Given the description of an element on the screen output the (x, y) to click on. 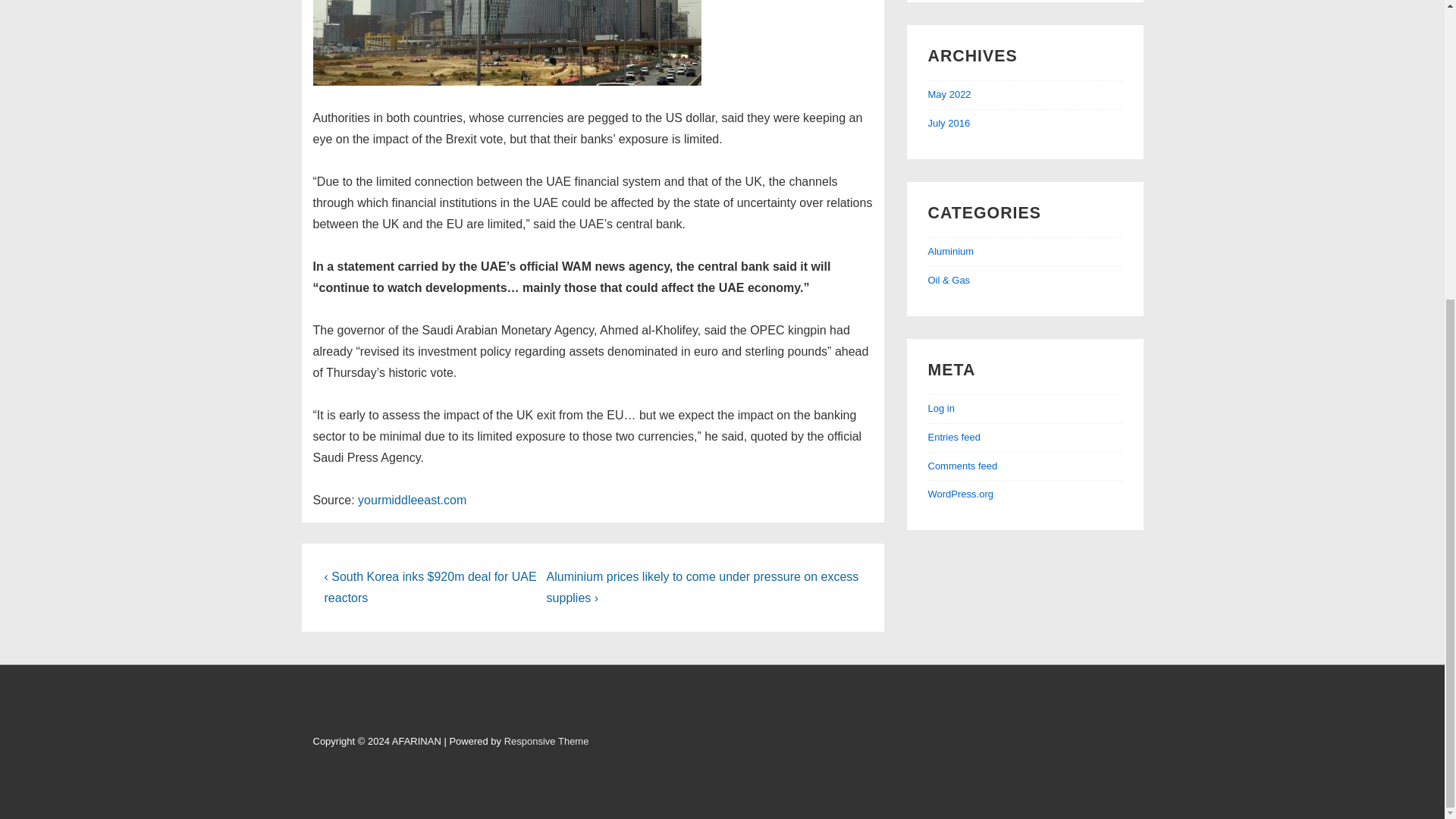
Responsive Theme (546, 740)
May 2022 (949, 93)
WordPress.org (960, 493)
Entries feed (953, 437)
Comments feed (962, 465)
July 2016 (949, 122)
Aluminium (951, 251)
yourmiddleeast.com (411, 499)
Log in (941, 408)
